Given the description of an element on the screen output the (x, y) to click on. 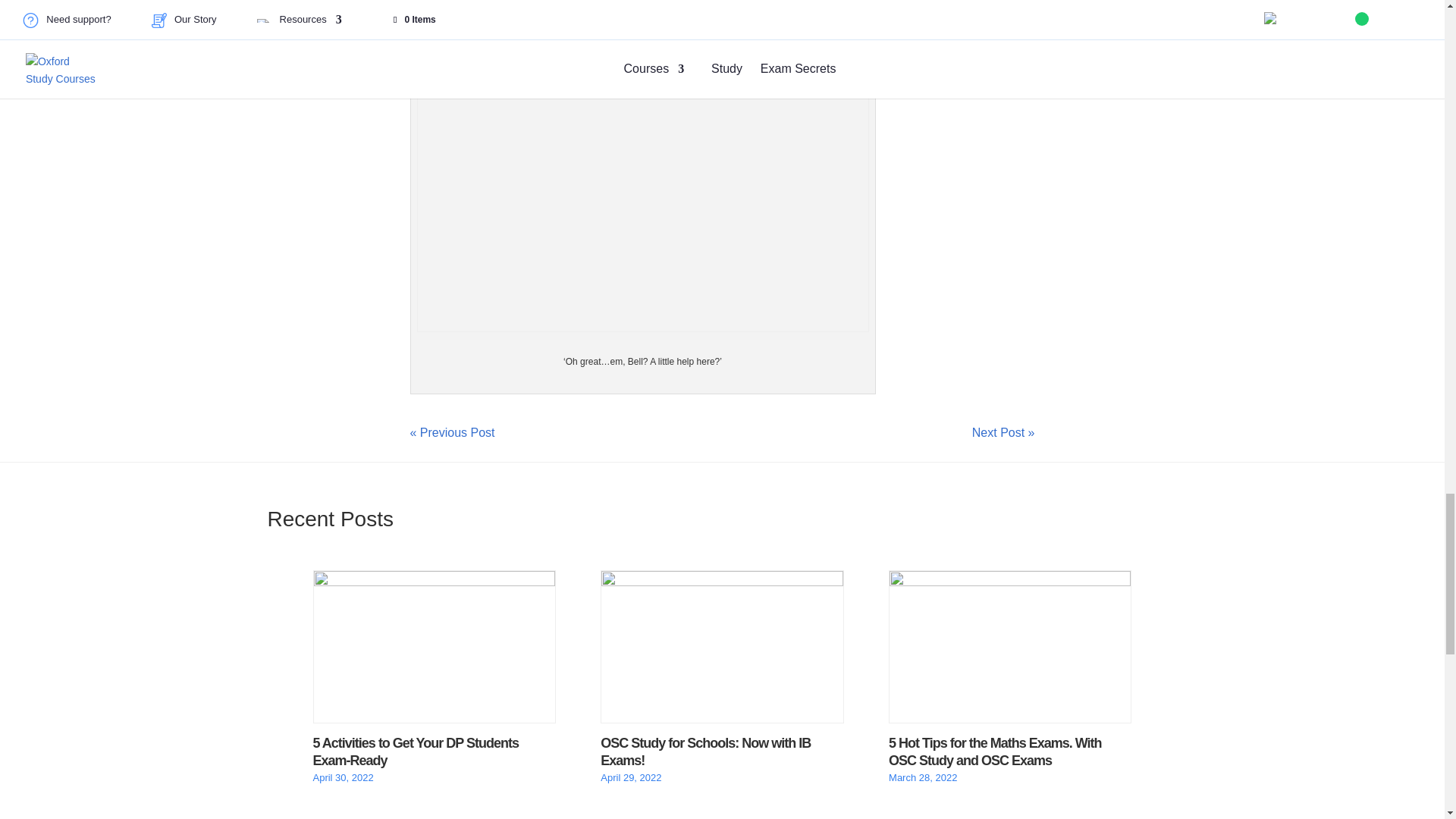
5 Hot Tips for the Maths Exams. With OSC Study and OSC Exams (995, 751)
5 Activities to Get Your DP Students Exam-Ready (415, 751)
5 Activities to Get Your DP Students Exam-Ready (433, 582)
5 Hot Tips for the Maths Exams. With OSC Study and OSC Exams (995, 751)
OSC Study for Schools: Now with IB Exams! (721, 582)
OSC Study for Schools: Now with IB Exams! (704, 751)
OSC Study for Schools: Now with IB Exams! (704, 751)
Ikea, Warehouse, Industrial, Tempe (642, 204)
5 Hot Tips for the Maths Exams. With OSC Study and OSC Exams (1009, 582)
5 Activities to Get Your DP Students Exam-Ready (415, 751)
